Given the description of an element on the screen output the (x, y) to click on. 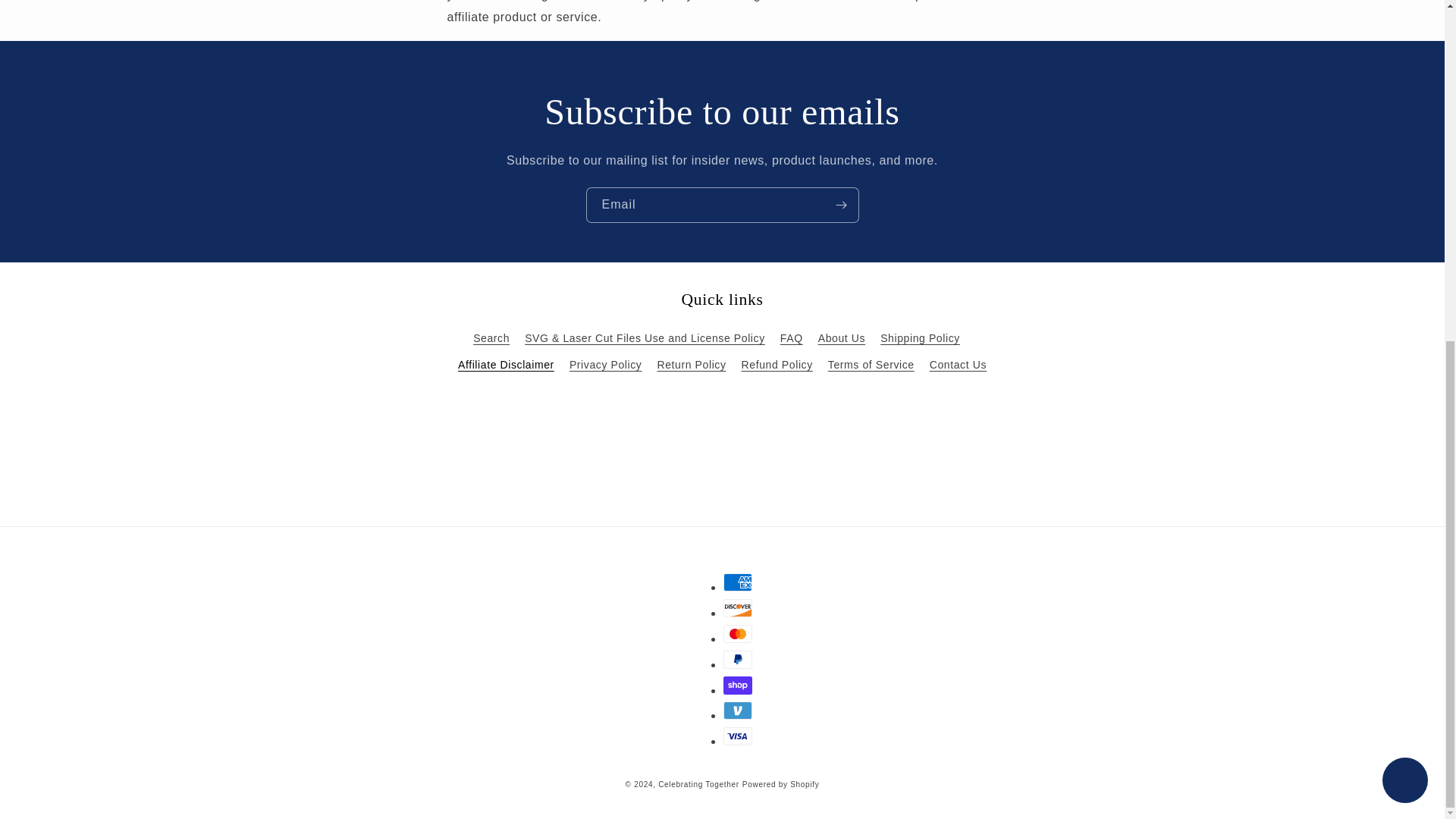
American Express (737, 582)
Venmo (737, 710)
Discover (737, 607)
Visa (737, 736)
Shop Pay (737, 685)
Mastercard (737, 633)
Shopify online store chat (1404, 202)
PayPal (737, 659)
